Given the description of an element on the screen output the (x, y) to click on. 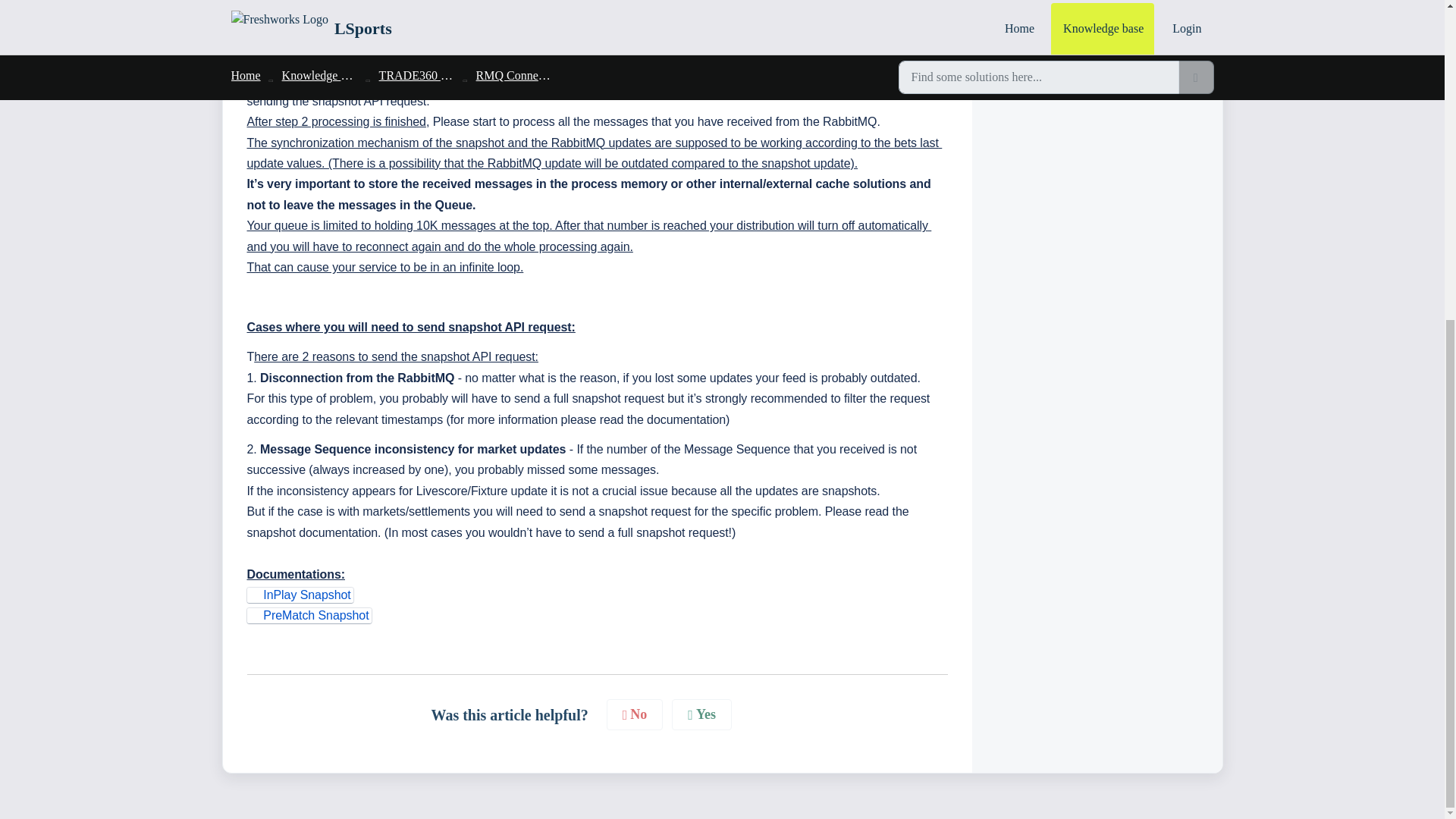
User Management (1097, 46)
InPlay Snapshot (300, 595)
PreMatch Snapshot (309, 615)
TRADE360 - Getting started with API (1097, 21)
No (635, 714)
Bet Suspension Reasons (1097, 2)
Yes (701, 714)
Chat (56, 260)
